Given the description of an element on the screen output the (x, y) to click on. 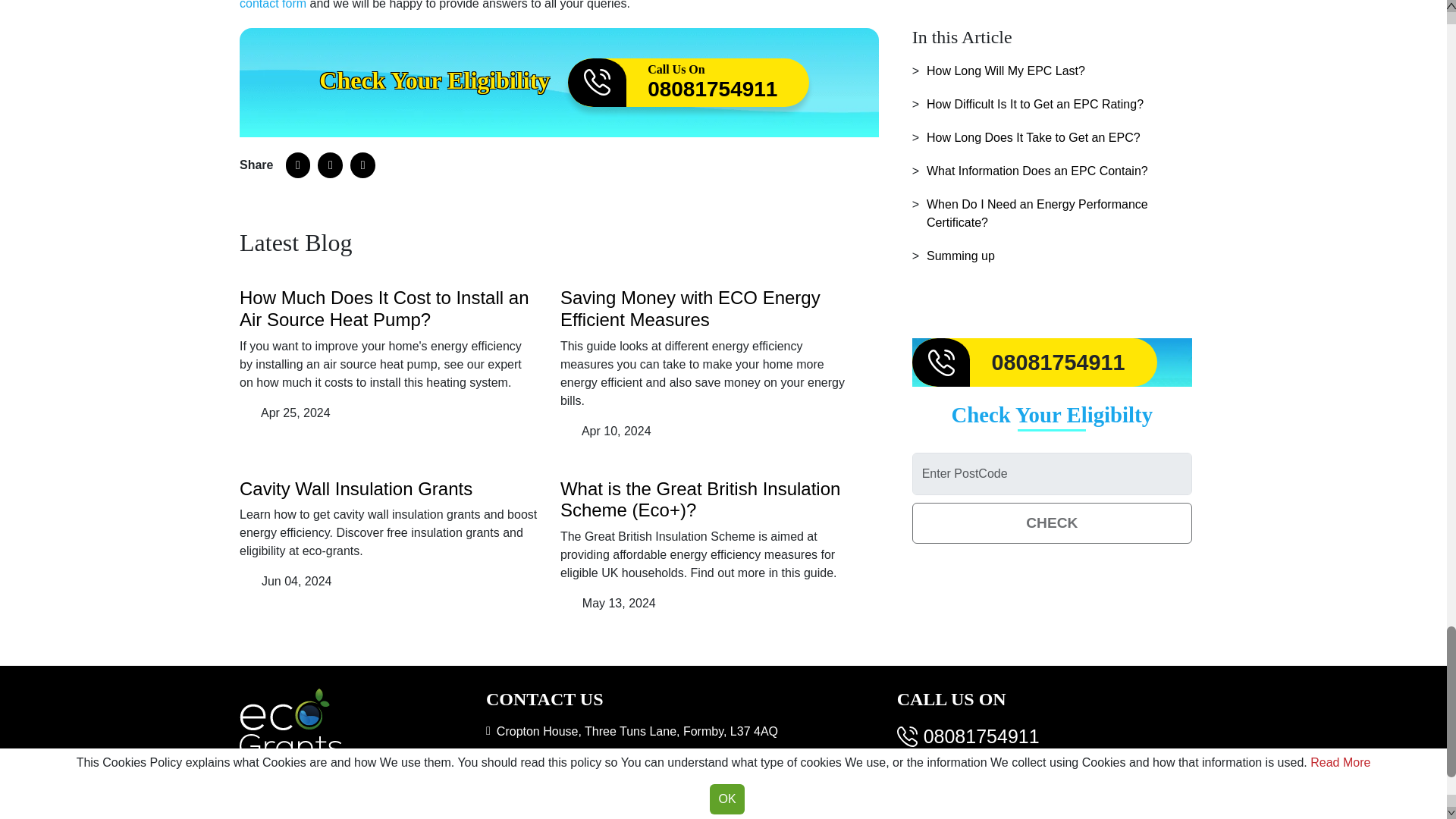
Cavity Wall Insulation Grants (688, 82)
GOV UK CROWN (355, 488)
How Much Does It Cost to Install an Air Source Heat Pump? (494, 816)
fill out our contact form (384, 308)
Saving Money with ECO Energy Efficient Measures (541, 4)
